Given the description of an element on the screen output the (x, y) to click on. 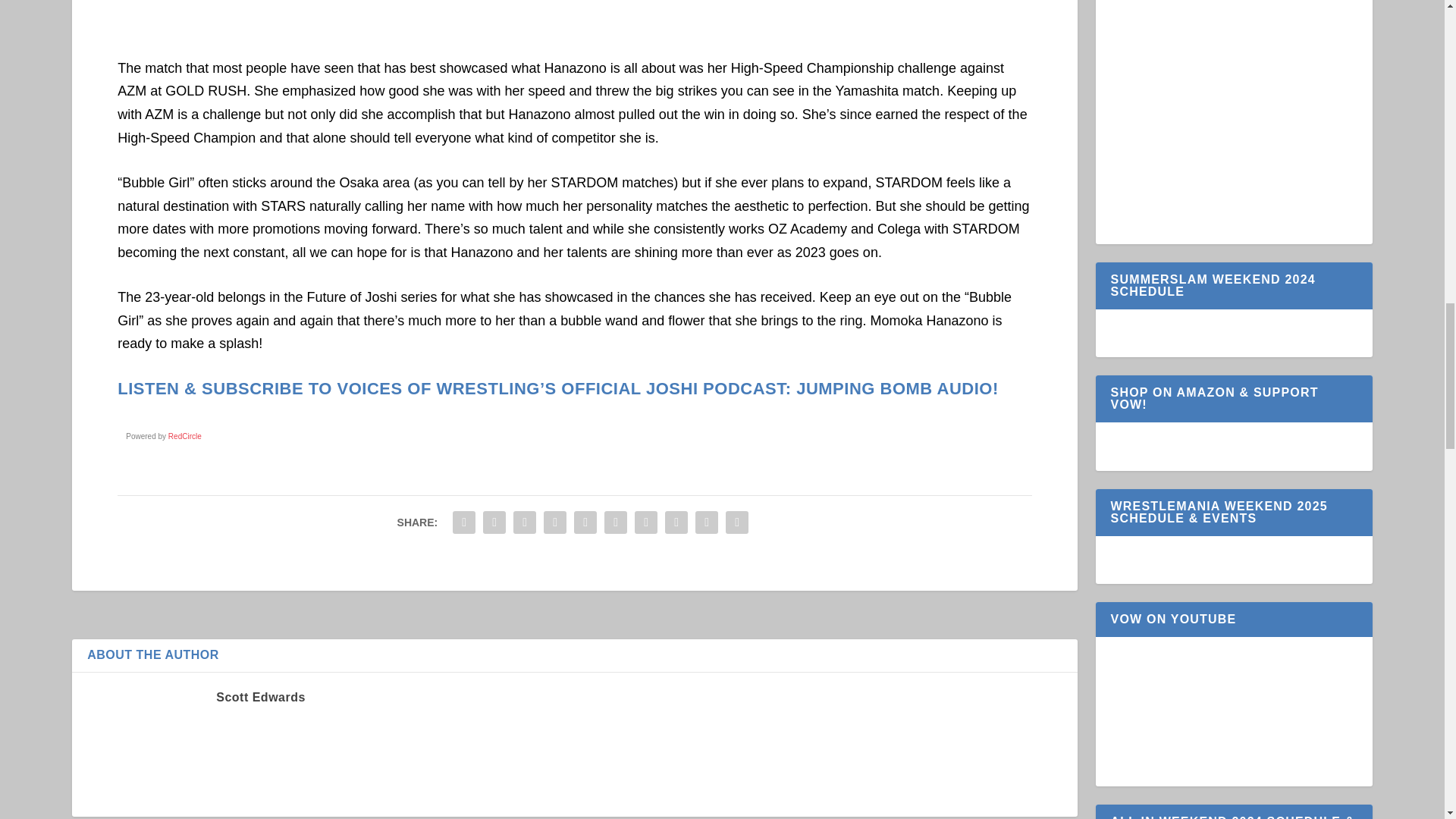
View all posts by Scott Edwards (260, 697)
